Given the description of an element on the screen output the (x, y) to click on. 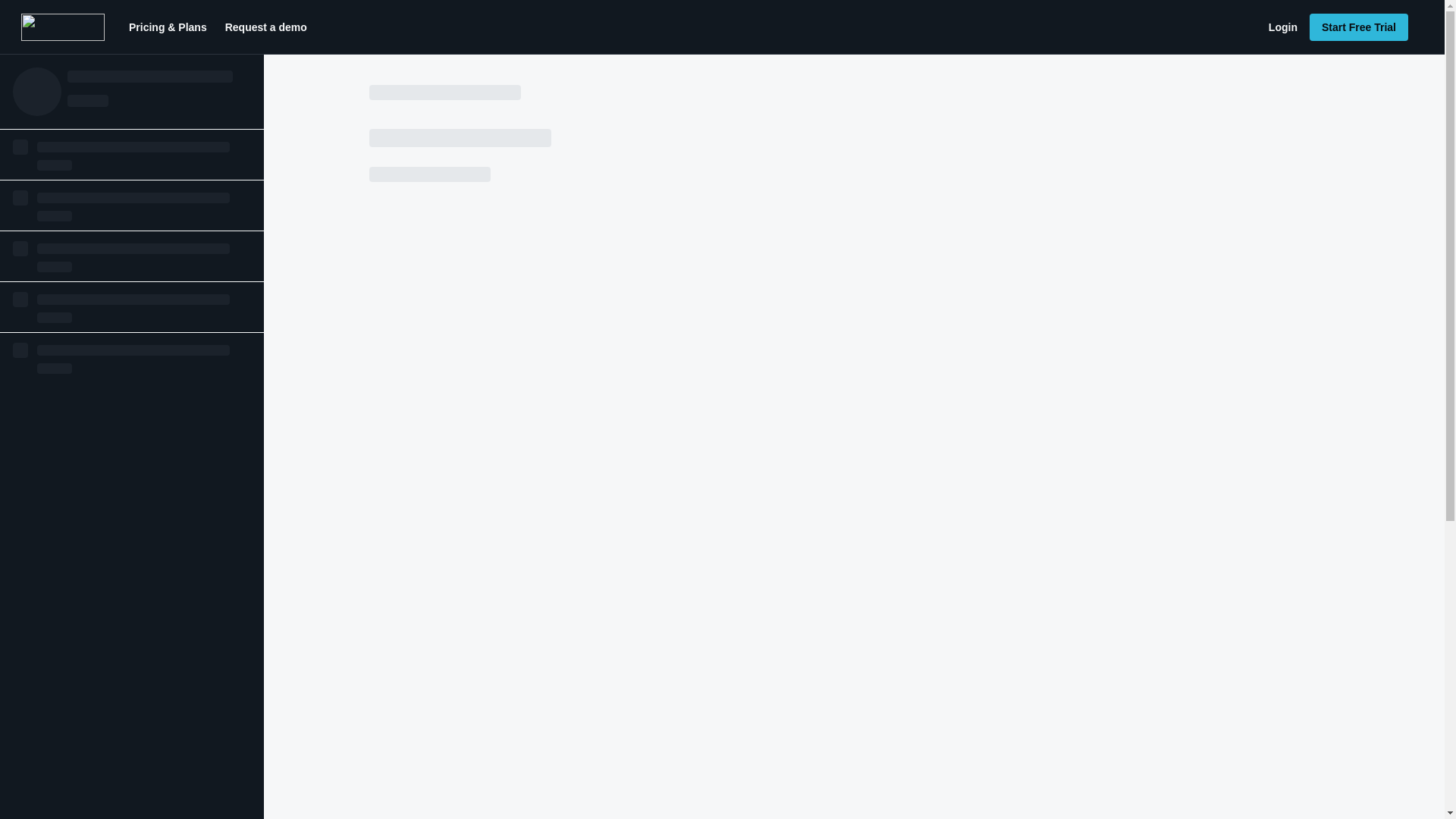
Start Free Trial (1357, 26)
Login (1282, 26)
Request a demo (266, 26)
